Given the description of an element on the screen output the (x, y) to click on. 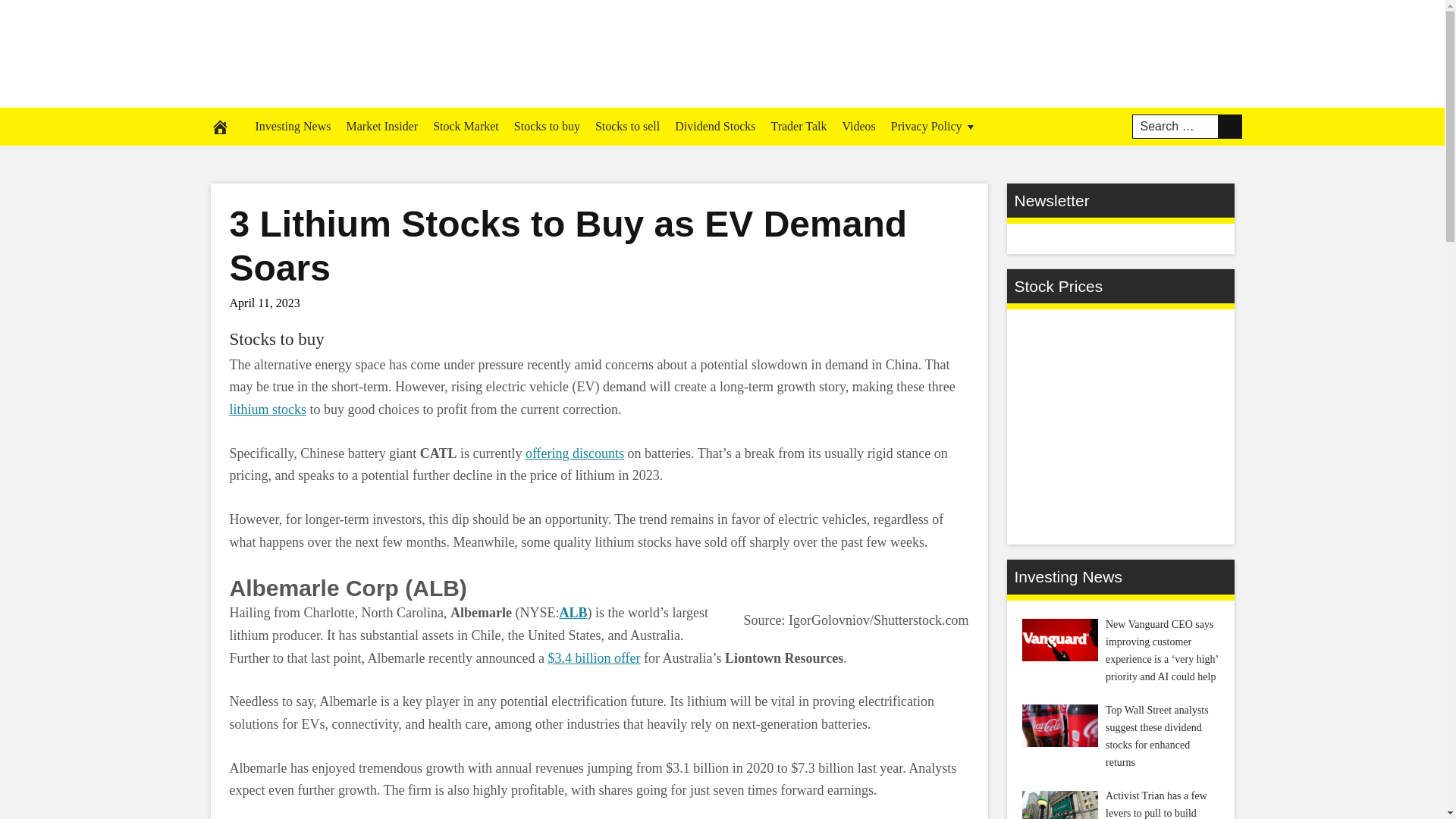
Stock Market (465, 126)
Stocks to buy (275, 339)
Videos (858, 126)
lithium stocks (266, 409)
offering discounts (574, 453)
Stocks to sell (627, 126)
Privacy Policy (934, 126)
Trader Talk (798, 126)
Stocks to buy (547, 126)
ALB (572, 612)
Market Insider (381, 126)
Dividend Stocks (714, 126)
Investing News (292, 126)
Stocks to buy (275, 339)
